Given the description of an element on the screen output the (x, y) to click on. 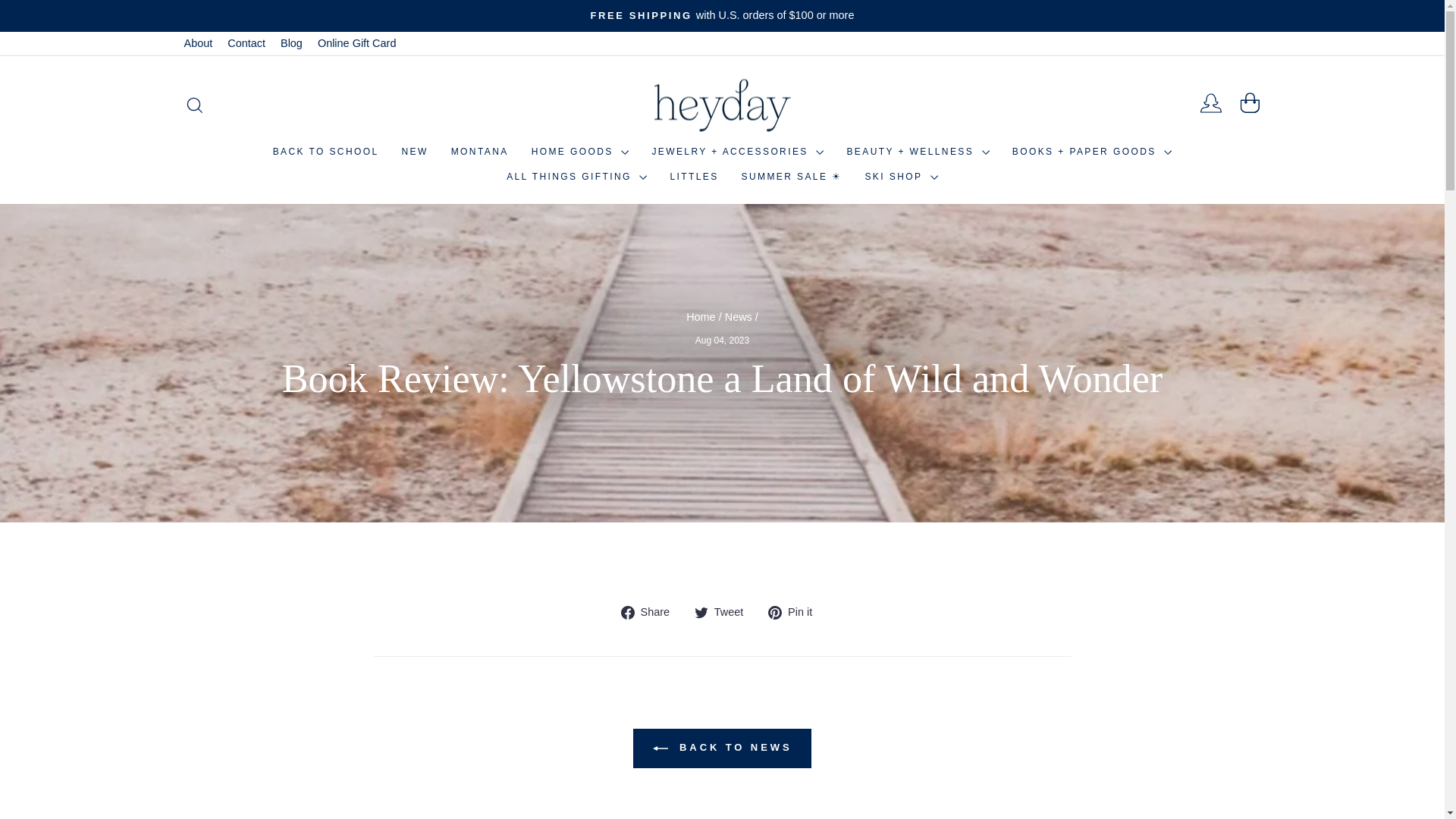
ICON-LEFT-ARROW (660, 748)
Share on Facebook (651, 611)
ICON-SEARCH (194, 105)
Tweet on Twitter (724, 611)
twitter (700, 612)
Back to the frontpage (700, 316)
Pin on Pinterest (796, 611)
